Given the description of an element on the screen output the (x, y) to click on. 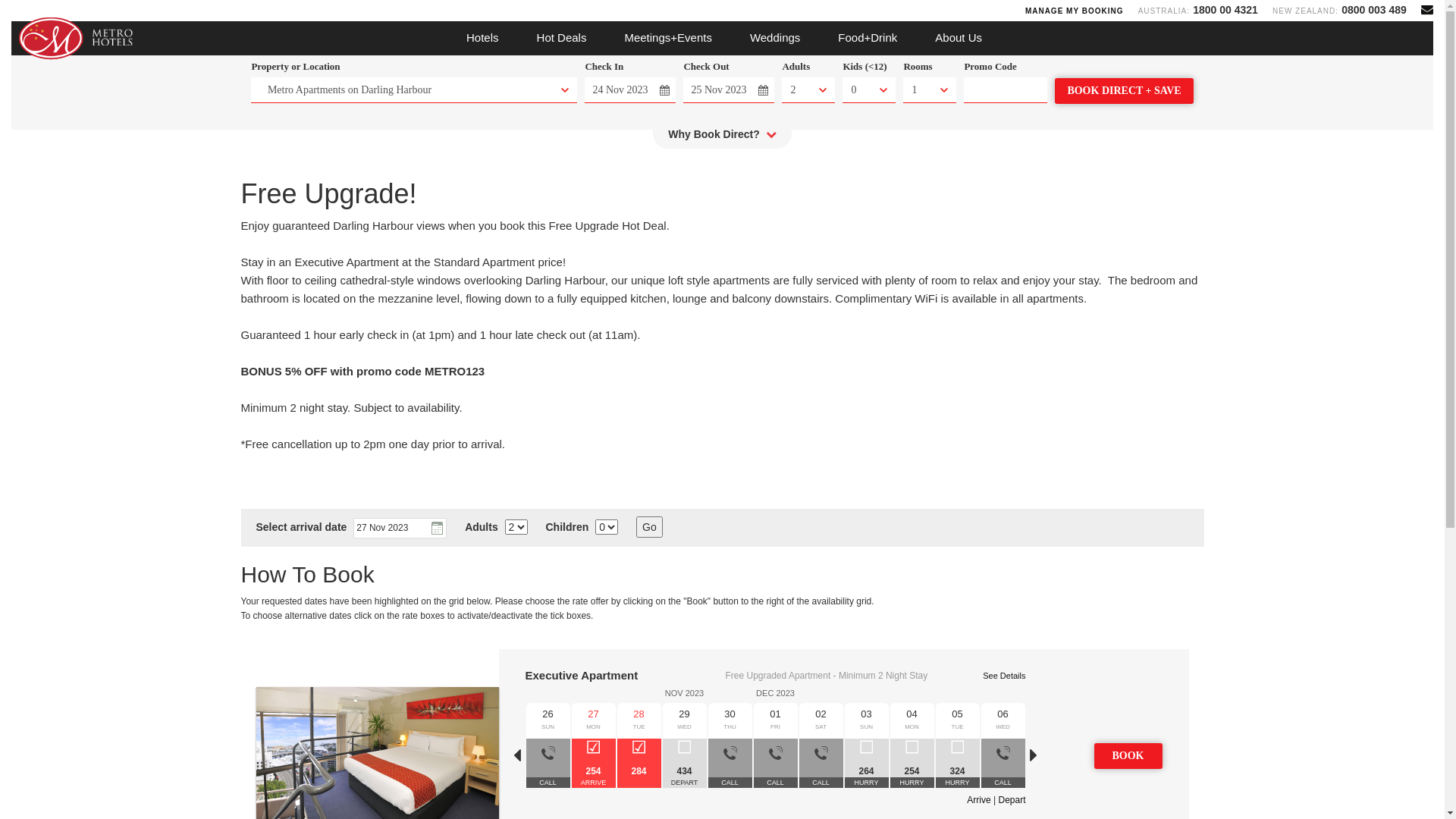
Meetings+Events Element type: text (667, 38)
BOOK DIRECT + SAVE Element type: text (1123, 90)
About Us Element type: text (958, 38)
See Details Element type: text (1003, 675)
Why Book Direct? Element type: text (721, 137)
Go Element type: text (649, 526)
MANAGE MY BOOKING Element type: text (1074, 10)
Hotels Element type: text (482, 38)
Depart Element type: text (1011, 799)
Arrive Element type: text (978, 799)
Contact Us Element type: hover (1427, 9)
Weddings Element type: text (775, 38)
Food+Drink Element type: text (867, 38)
Hot Deals Element type: text (561, 38)
